Given the description of an element on the screen output the (x, y) to click on. 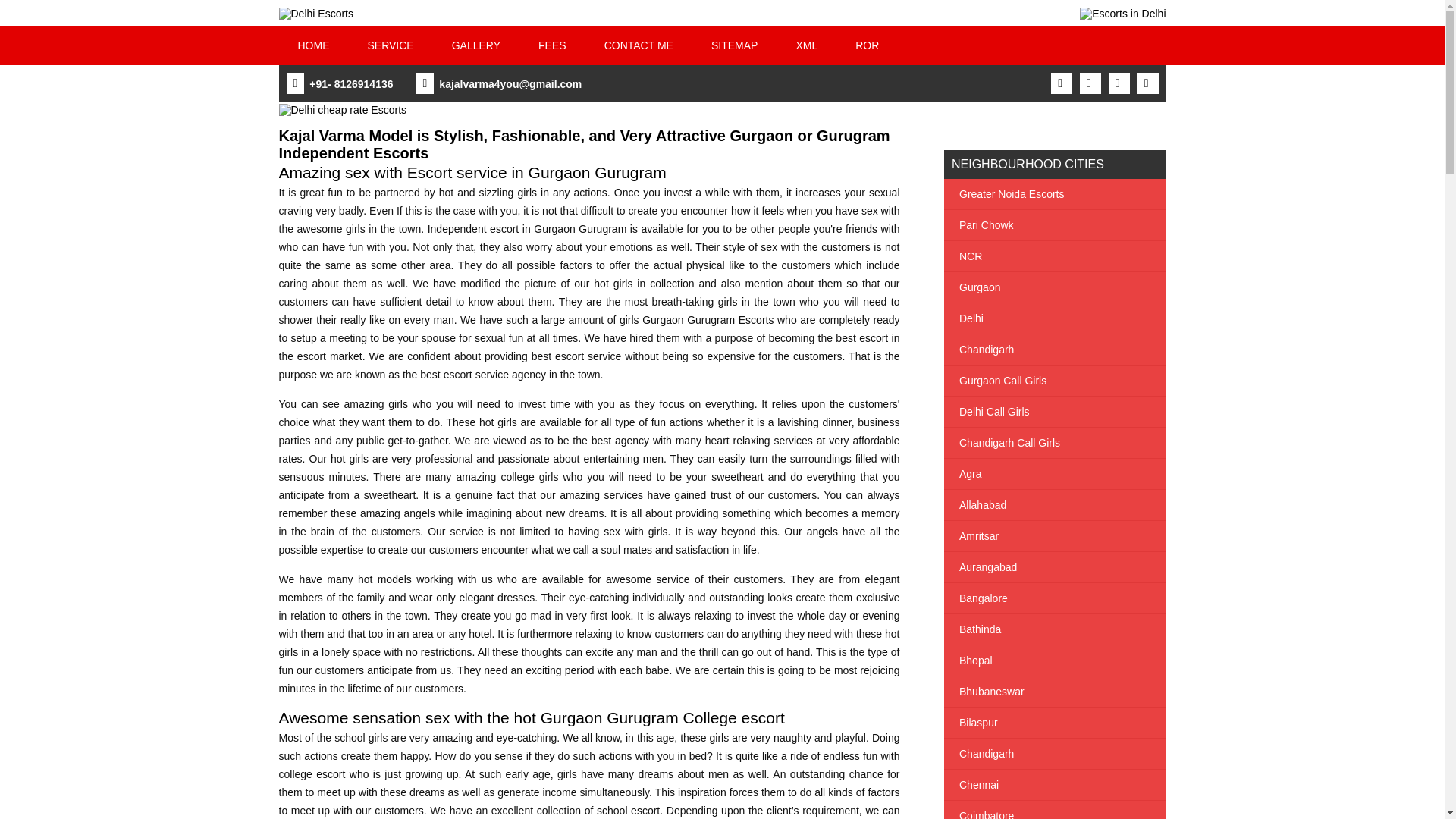
noida prostitutes whatsapp number (639, 45)
Pari Chowk (1054, 224)
cheap budget afford rate escorts in noida (552, 45)
CONTACT ME (639, 45)
Bhubaneswar (1054, 691)
Agra (1054, 473)
Bathinda (1054, 629)
Pari Chowk (1054, 224)
GALLERY (475, 45)
Chandigarh Call Girls (1054, 442)
NCR (1054, 255)
Female Escorts in Delhi (1123, 13)
Greater Noida Escorts (1054, 194)
XML (805, 45)
